Given the description of an element on the screen output the (x, y) to click on. 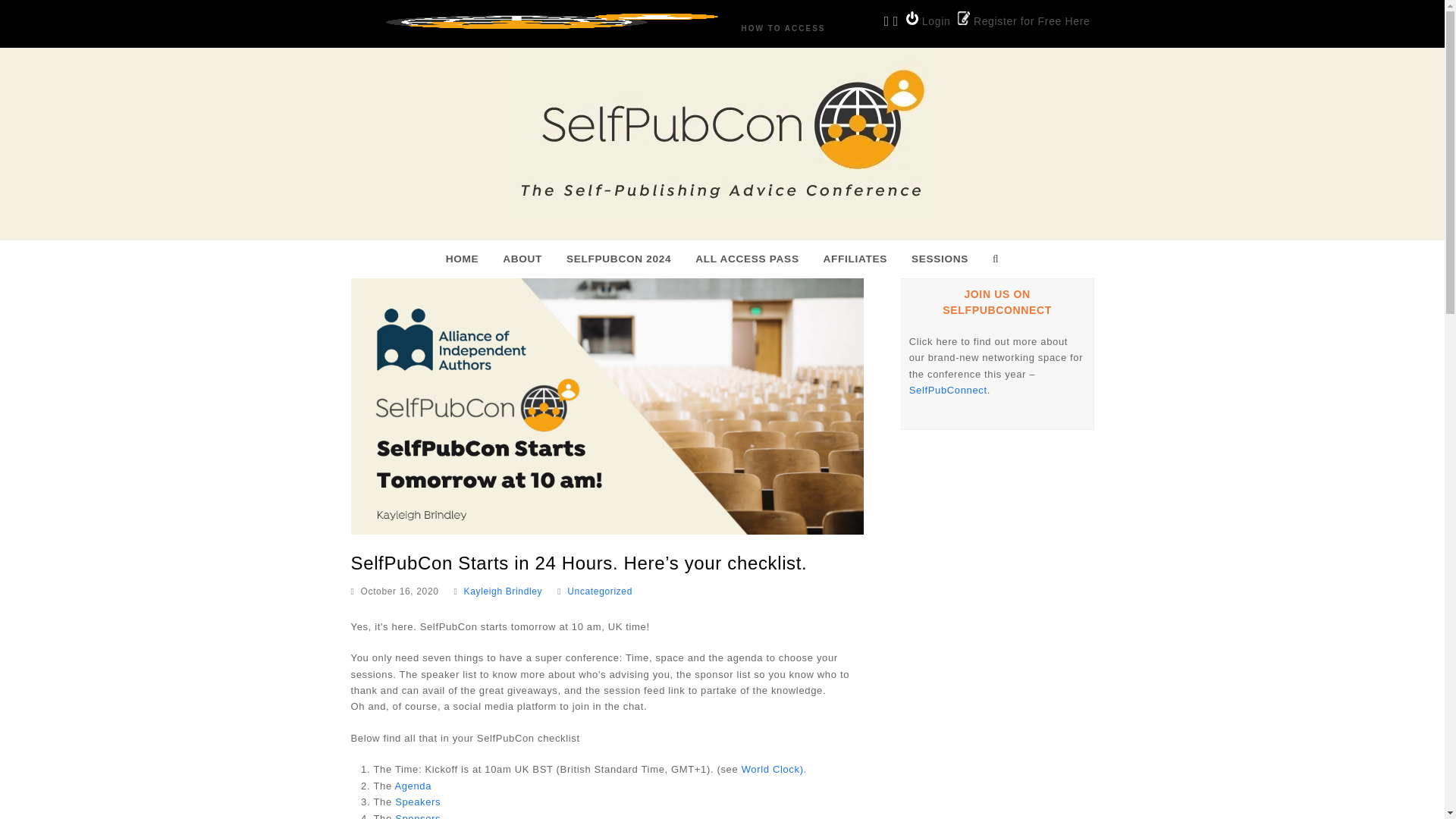
Sponsors (417, 816)
Log in (927, 20)
Posts by Kayleigh Brindley (503, 591)
SELFPUBCON 2024 (618, 259)
SESSIONS (939, 259)
Uncategorized (599, 591)
Speakers (417, 801)
ABOUT (522, 259)
Agenda (412, 785)
Login (927, 20)
HOW TO ACCESS (783, 28)
Kayleigh Brindley (503, 591)
Register for Free Here (1023, 20)
ALL ACCESS PASS (746, 259)
Register for Free Here (1023, 20)
